Given the description of an element on the screen output the (x, y) to click on. 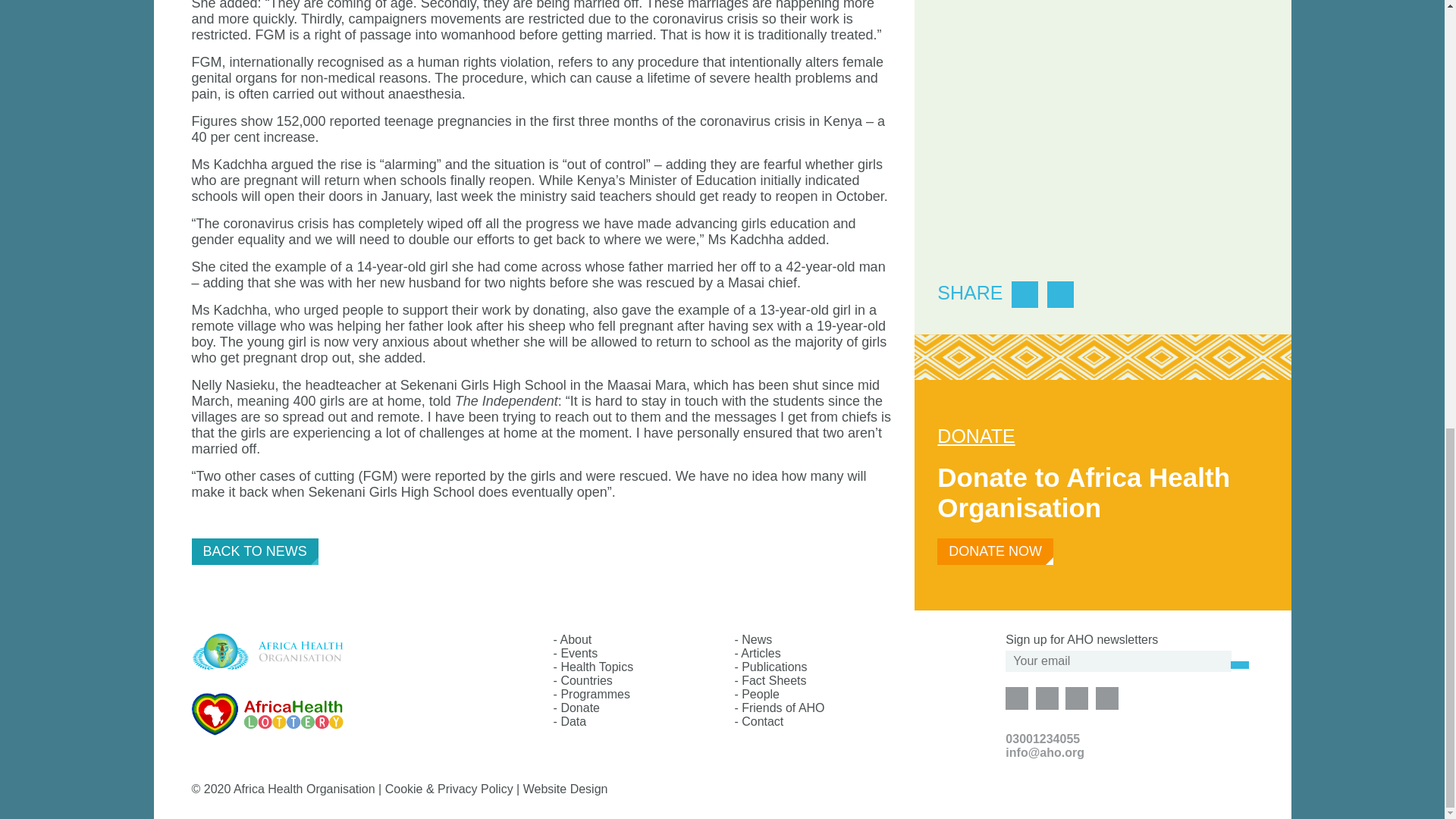
DONATE NOW (994, 551)
BACK TO NEWS (253, 551)
